Given the description of an element on the screen output the (x, y) to click on. 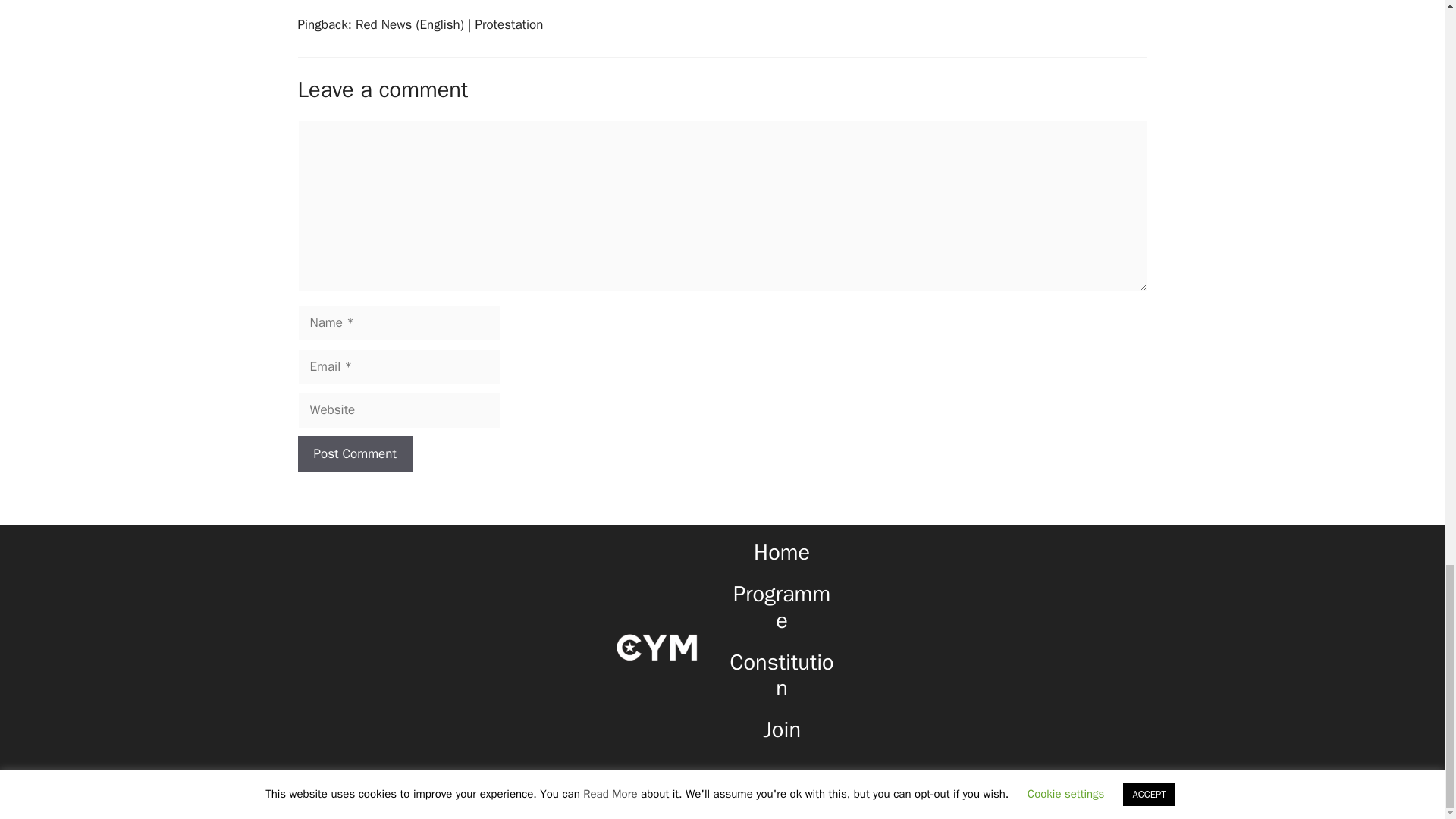
Post Comment (354, 453)
Programme (781, 606)
Post Comment (354, 453)
Home (781, 552)
Constitution (782, 675)
Join (781, 729)
GeneratePress (838, 794)
